Given the description of an element on the screen output the (x, y) to click on. 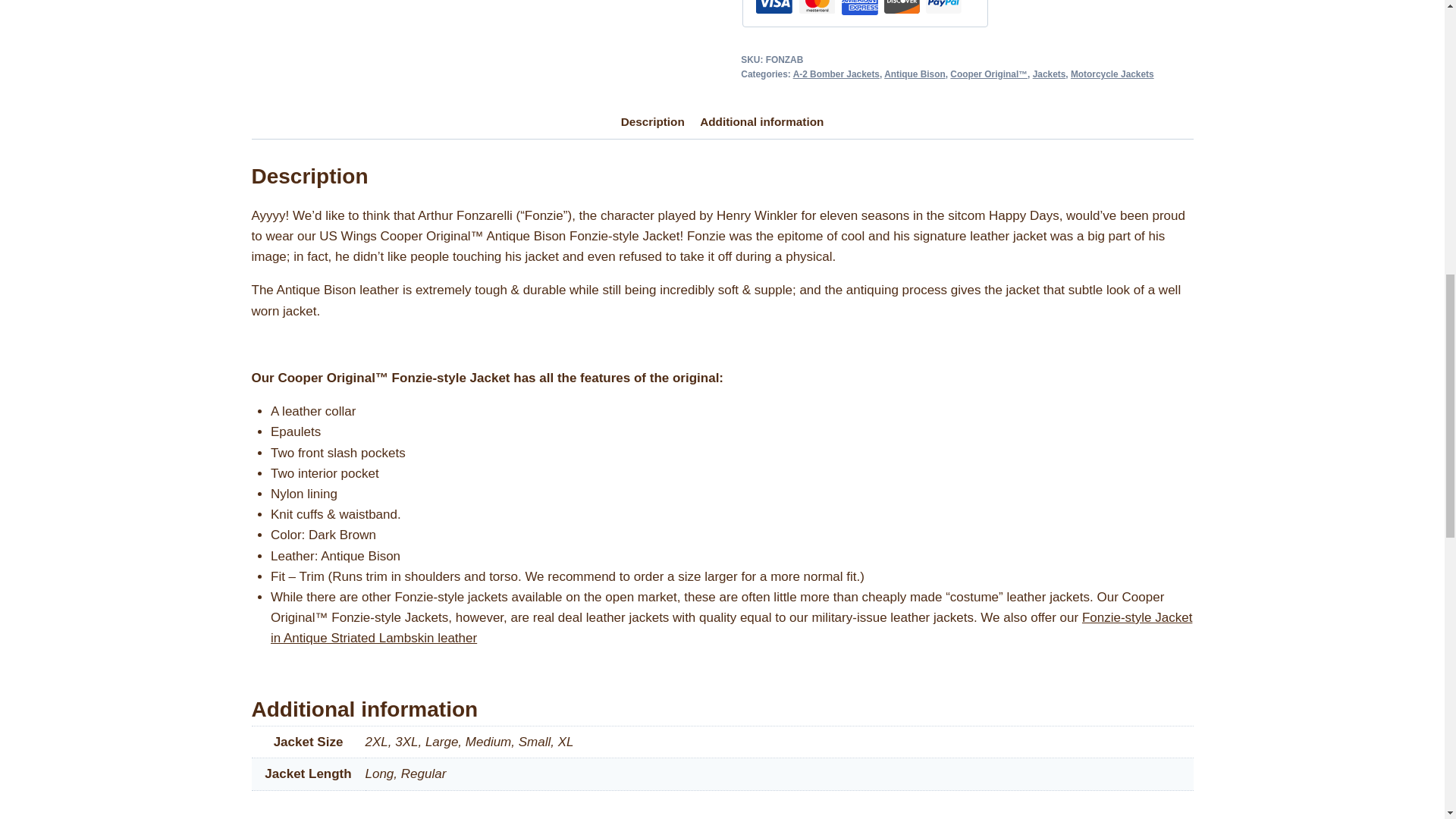
Additional information (762, 122)
Motorcycle Jackets (1112, 73)
Fonzie-style Jacket in Antique Striated Lambskin leather (731, 627)
Description (652, 122)
Antique Bison (913, 73)
A-2 Bomber Jackets (836, 73)
Jackets (1048, 73)
